Given the description of an element on the screen output the (x, y) to click on. 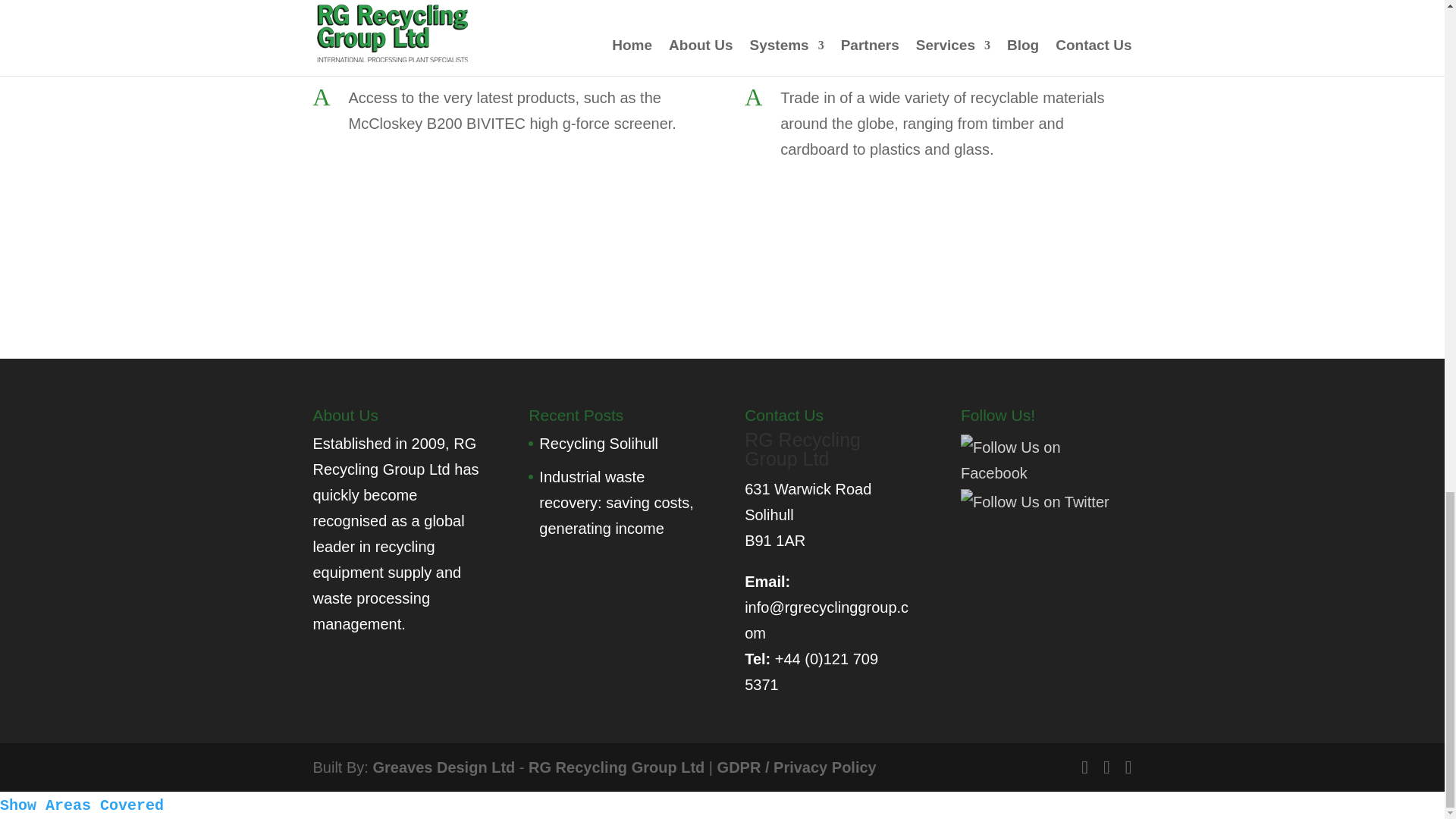
Industrial waste recovery: saving costs, generating income (615, 502)
Follow Us on Facebook (1042, 460)
RG Recycling Group Ltd (616, 767)
Follow Us on Twitter (1034, 501)
Recycling Solihull (598, 443)
Greaves Design Ltd (443, 767)
